Given the description of an element on the screen output the (x, y) to click on. 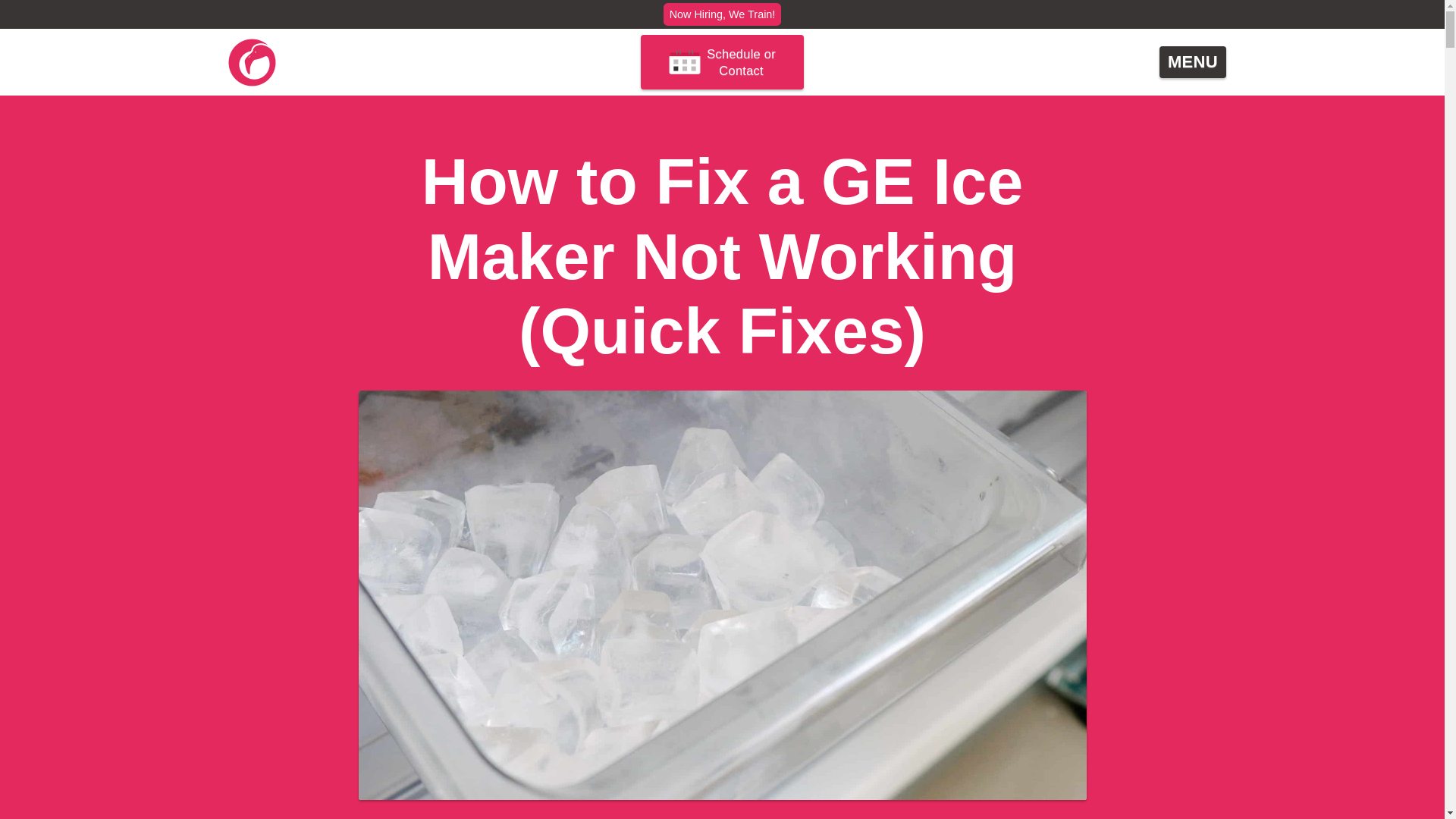
Now Hiring, We Train! (722, 14)
